Given the description of an element on the screen output the (x, y) to click on. 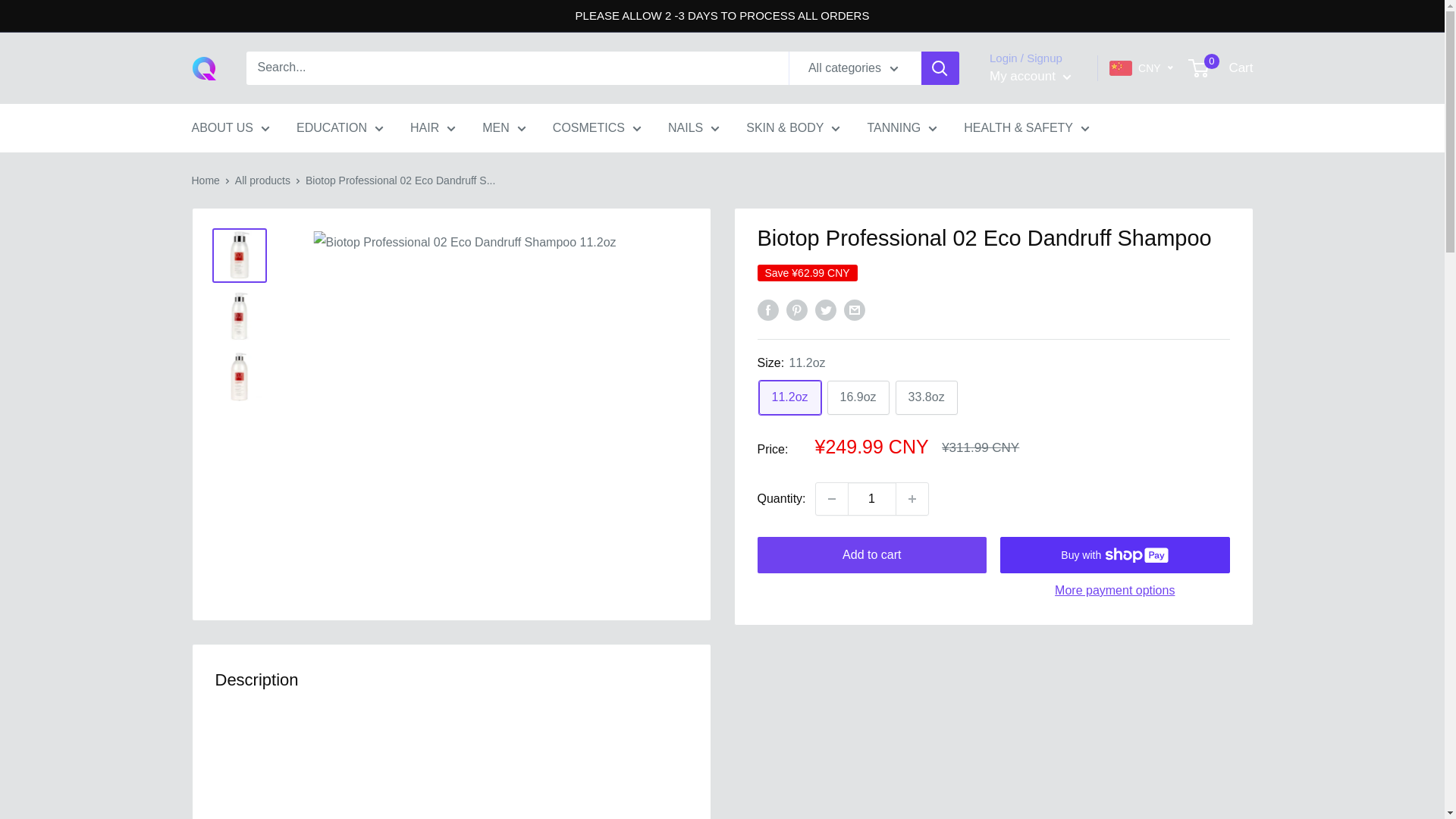
1 (871, 499)
Decrease quantity by 1 (831, 499)
33.8oz (926, 397)
vimeo-player (451, 782)
Increase quantity by 1 (912, 499)
16.9oz (858, 397)
11.2oz (789, 397)
